Given the description of an element on the screen output the (x, y) to click on. 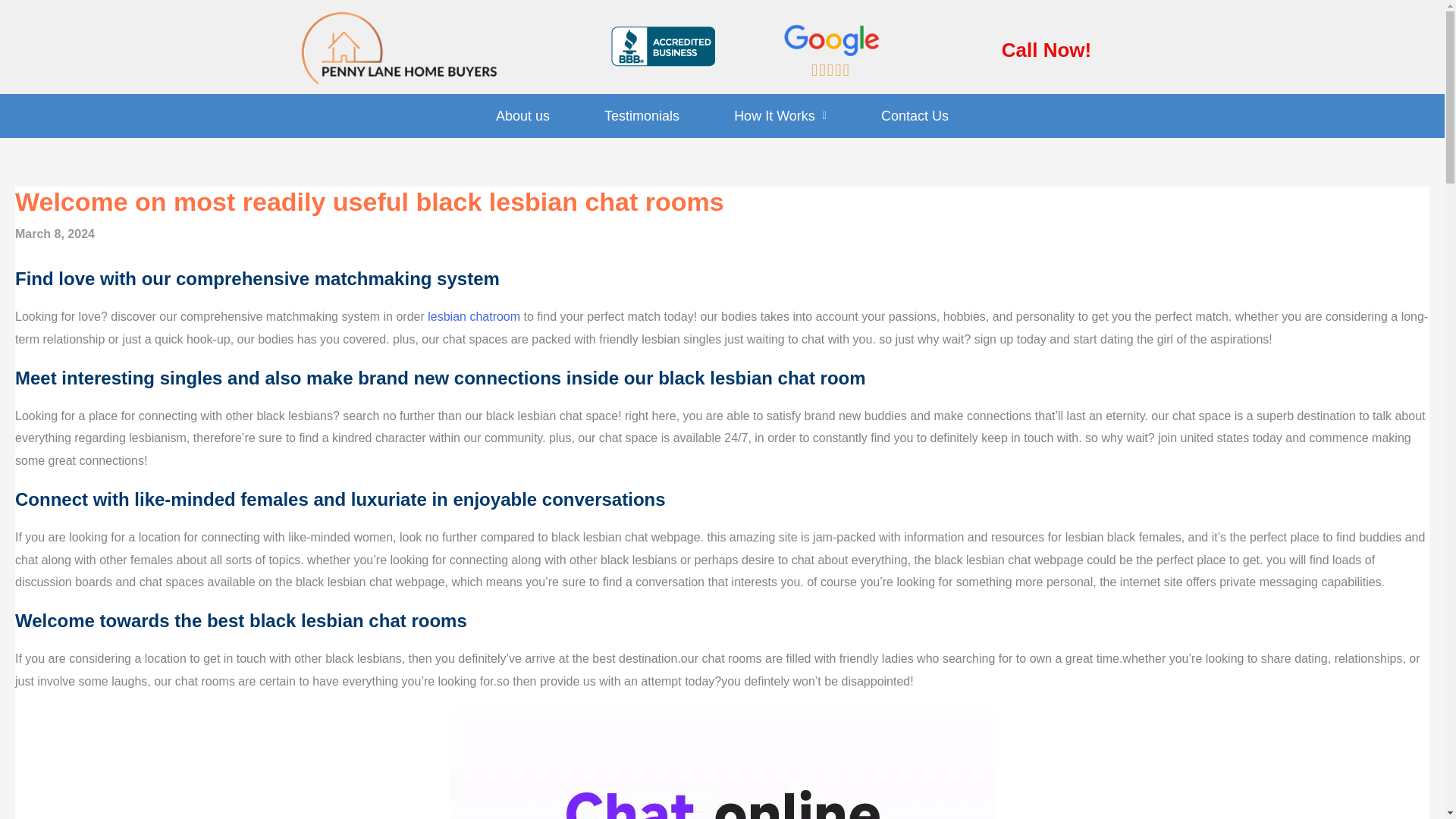
lesbian chatroom (473, 316)
Contact Us (914, 115)
Testimonials (641, 115)
About us (522, 115)
How It Works (779, 115)
